Given the description of an element on the screen output the (x, y) to click on. 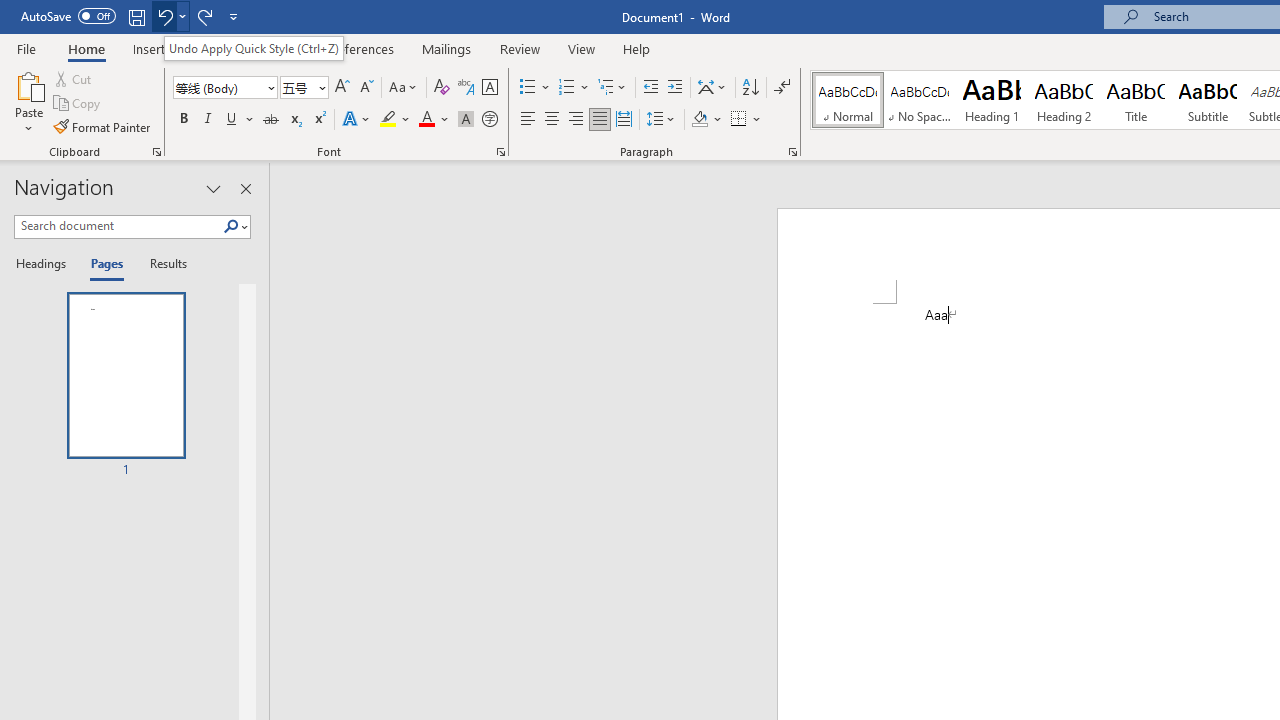
Font... (500, 151)
Search document (118, 226)
Align Right (575, 119)
Font Color Red (426, 119)
Close pane (246, 188)
Text Highlight Color (395, 119)
Cut (73, 78)
Undo Apply Quick Style (170, 15)
Heading 1 (991, 100)
Text Highlight Color Yellow (388, 119)
